Given the description of an element on the screen output the (x, y) to click on. 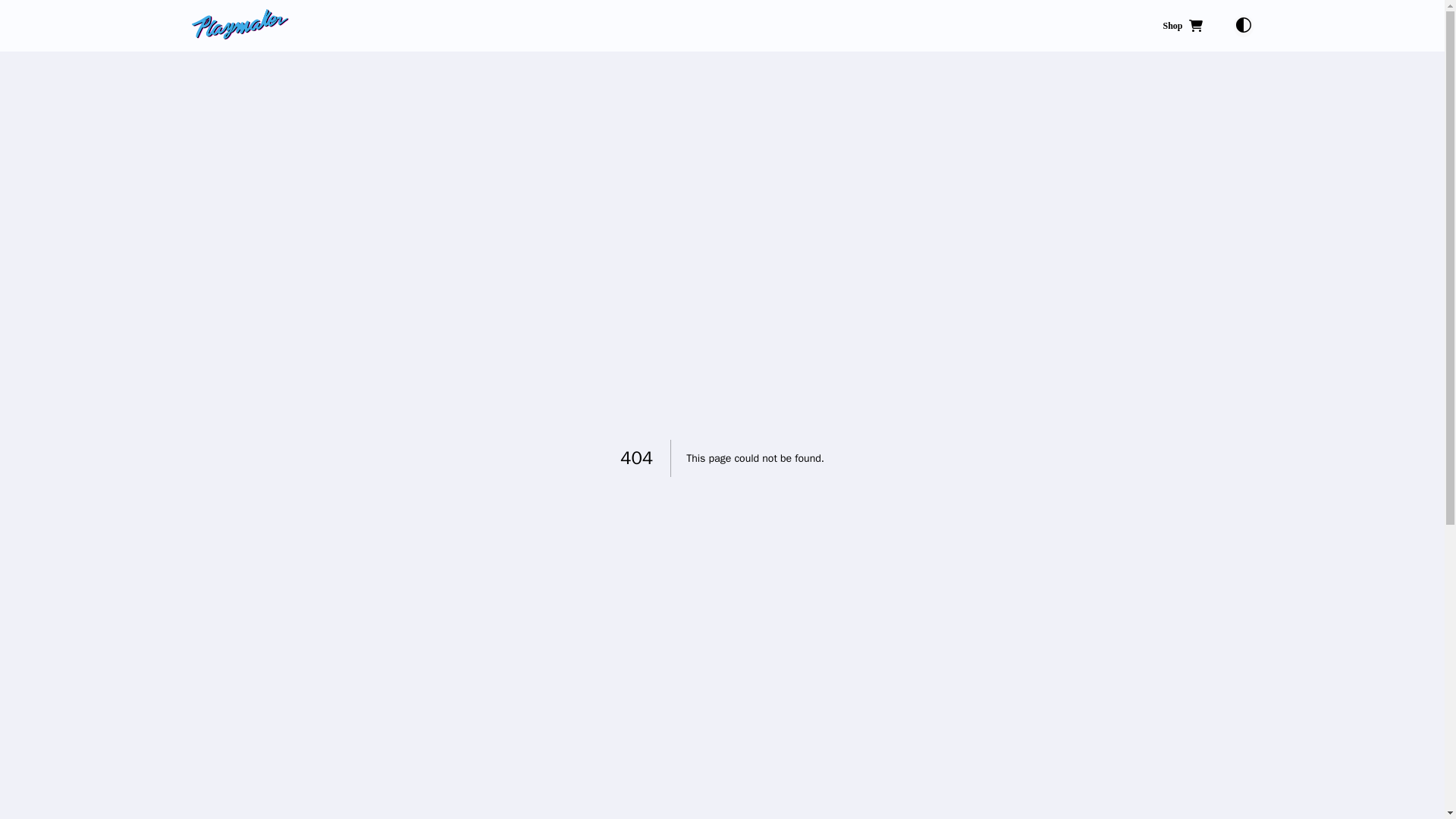
Shop (1181, 25)
